Given the description of an element on the screen output the (x, y) to click on. 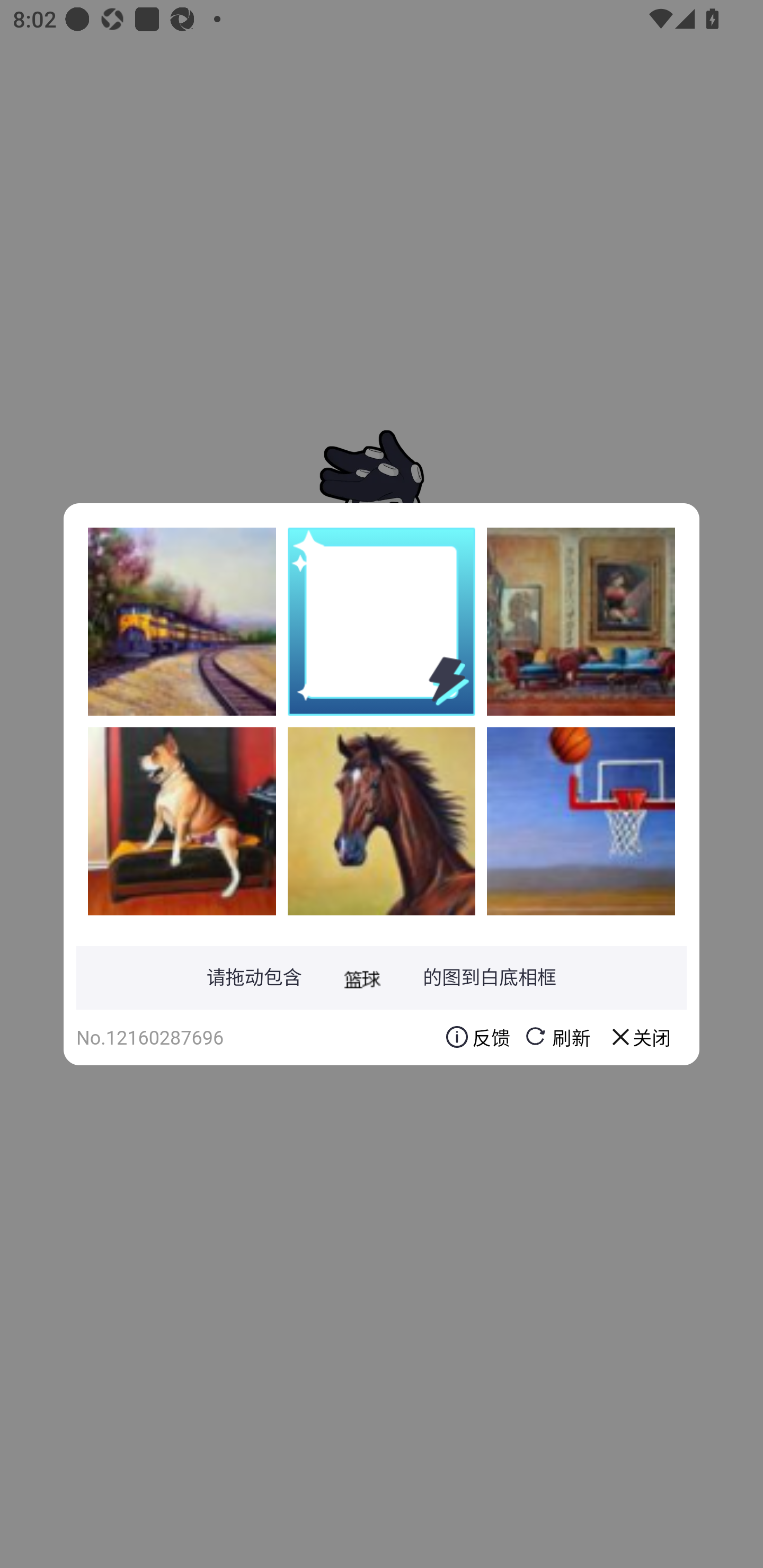
Kjw6 (181, 621)
I4Afr6D0xSk8eX (181, 820)
iqXOBKkJYGFjDVpwpNrGFhZE (381, 820)
